Given the description of an element on the screen output the (x, y) to click on. 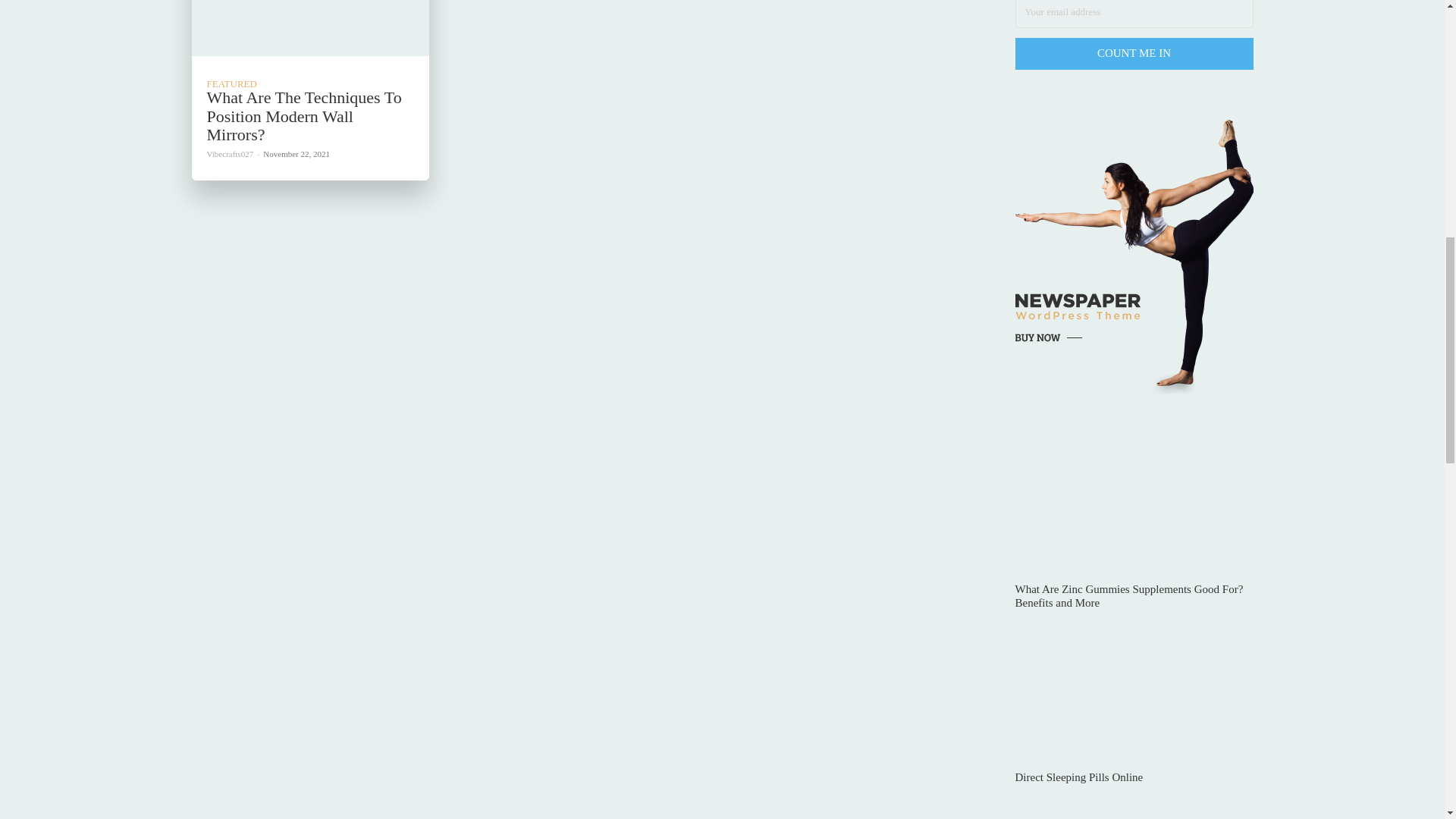
What Are The Techniques To Position Modern Wall Mirrors? (303, 115)
What Are The Techniques To Position Modern Wall Mirrors? (309, 28)
